Given the description of an element on the screen output the (x, y) to click on. 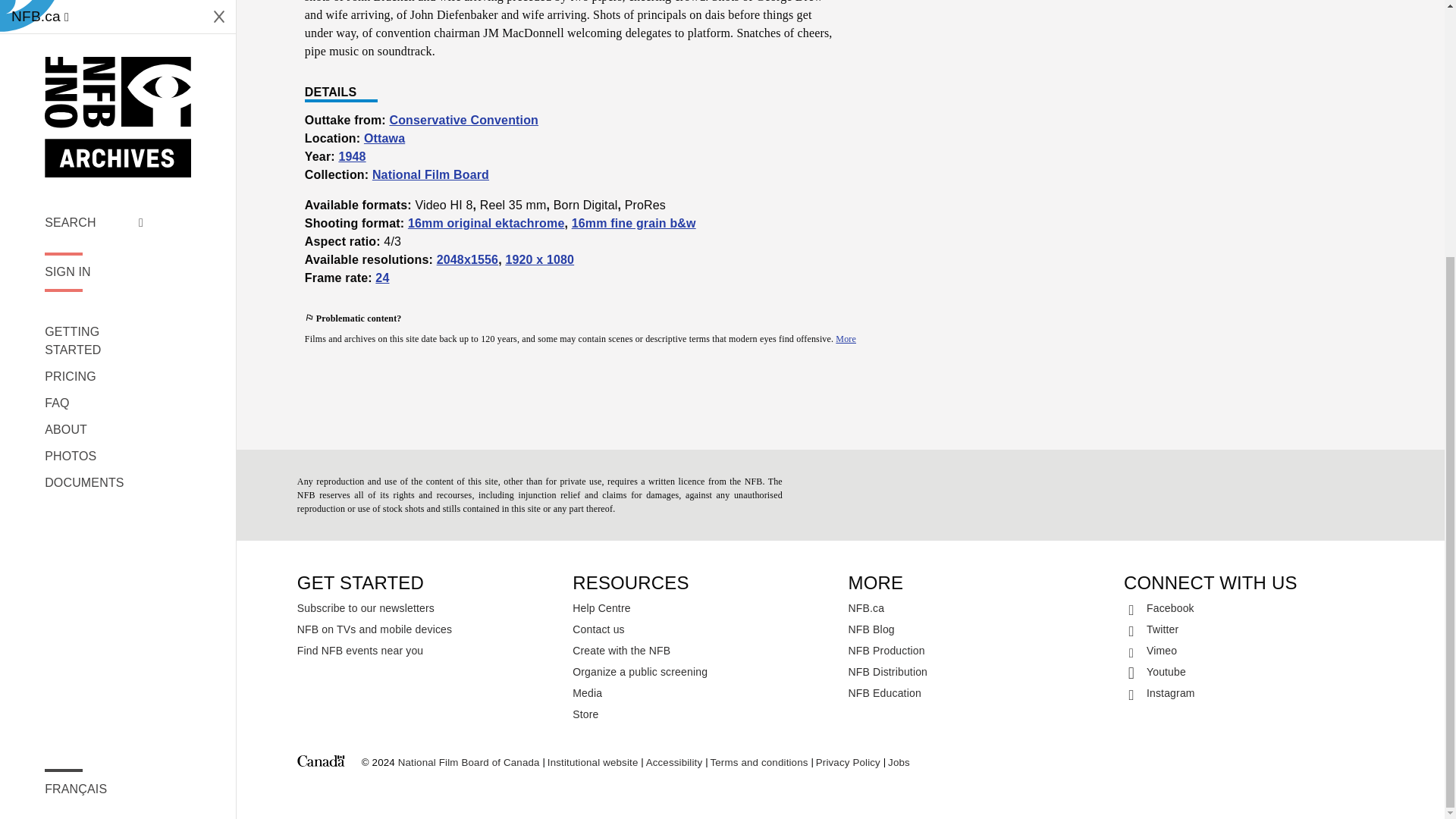
Contact us (702, 629)
NFB on TVs and mobile devices (427, 629)
Store (702, 713)
24 (381, 277)
Subscribe to our newsletters (427, 608)
16mm original ektachrome (485, 223)
Ottawa (384, 137)
2048x1556 (467, 259)
National Film Board (430, 174)
PRICING (93, 11)
Organize a public screening (702, 671)
Conservative Convention (463, 119)
FAQ (93, 37)
1920 x 1080 (539, 259)
PHOTOS (93, 90)
